Given the description of an element on the screen output the (x, y) to click on. 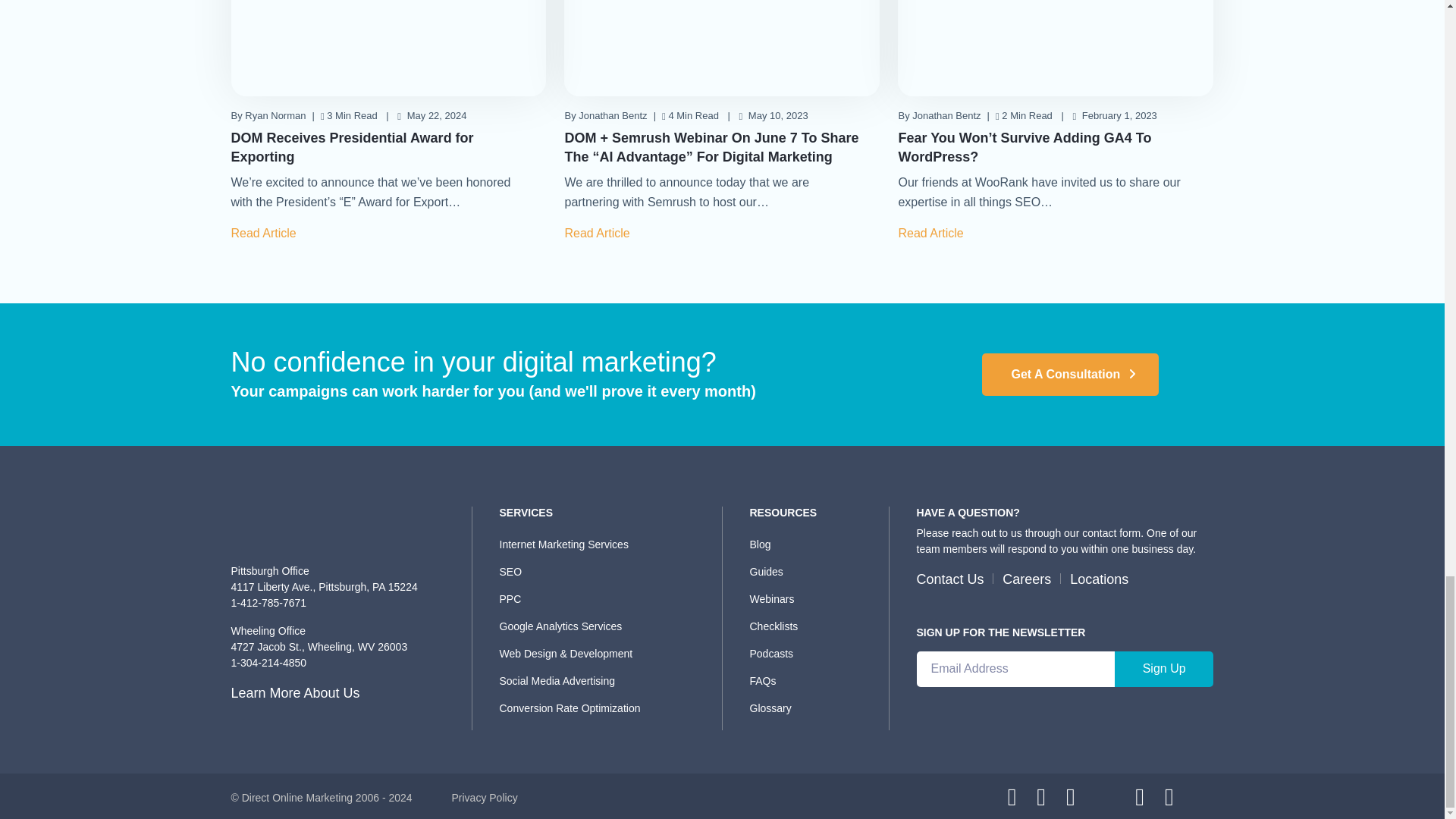
SEO (605, 571)
Internet Marketing Services (605, 544)
Sign Up (1164, 669)
PPC (605, 598)
Google Analytics Services (605, 626)
